Given the description of an element on the screen output the (x, y) to click on. 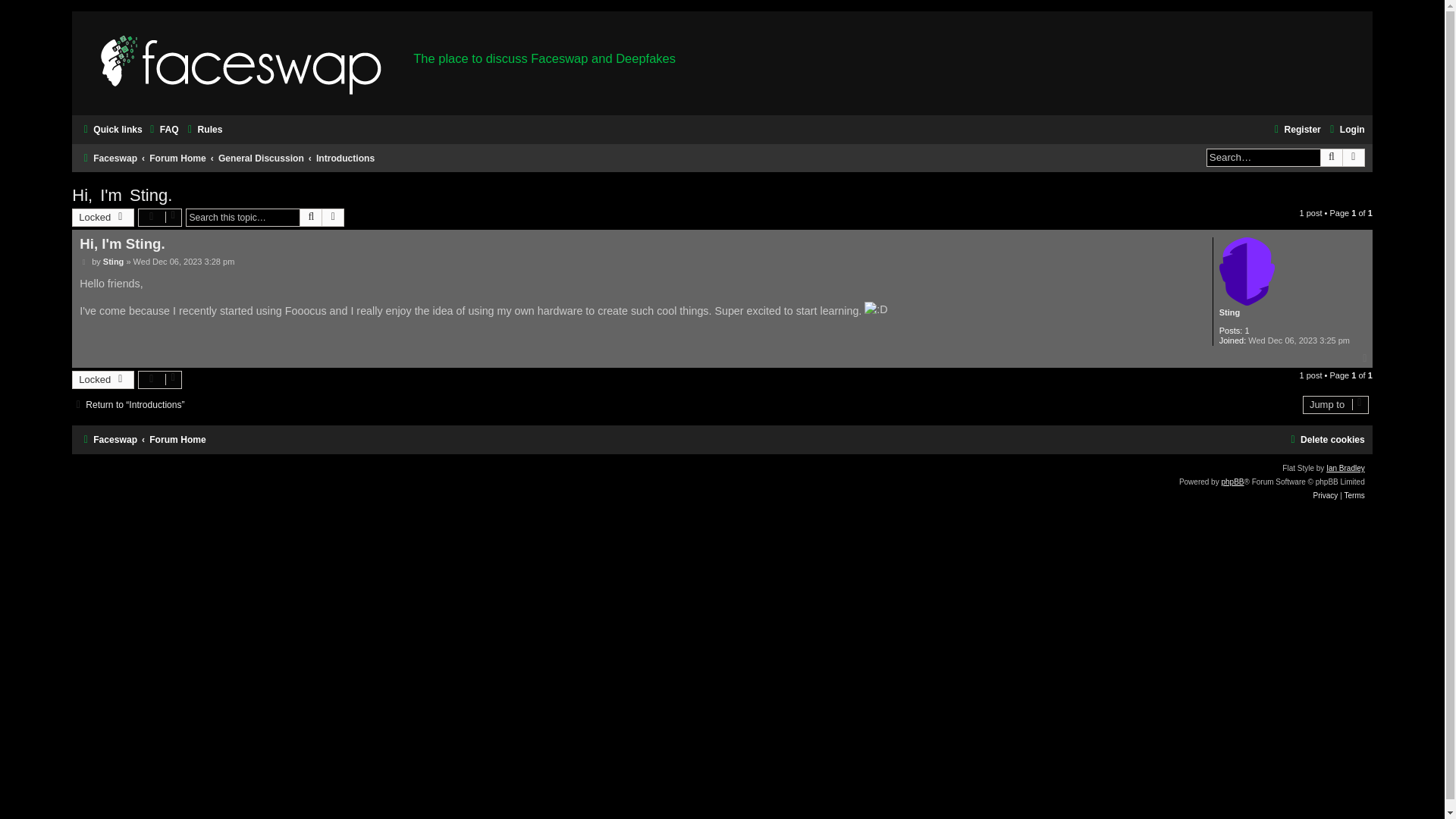
Advanced search (332, 217)
Post (84, 261)
Sting (1230, 312)
Forum Home (177, 158)
Sting (113, 261)
Introductions (344, 158)
Topic tools (160, 217)
Search (1331, 157)
Top (1365, 357)
Login (1345, 129)
View the Rules of this Board (203, 129)
Advanced search (1353, 157)
Post (84, 261)
Faceswap (108, 158)
